Given the description of an element on the screen output the (x, y) to click on. 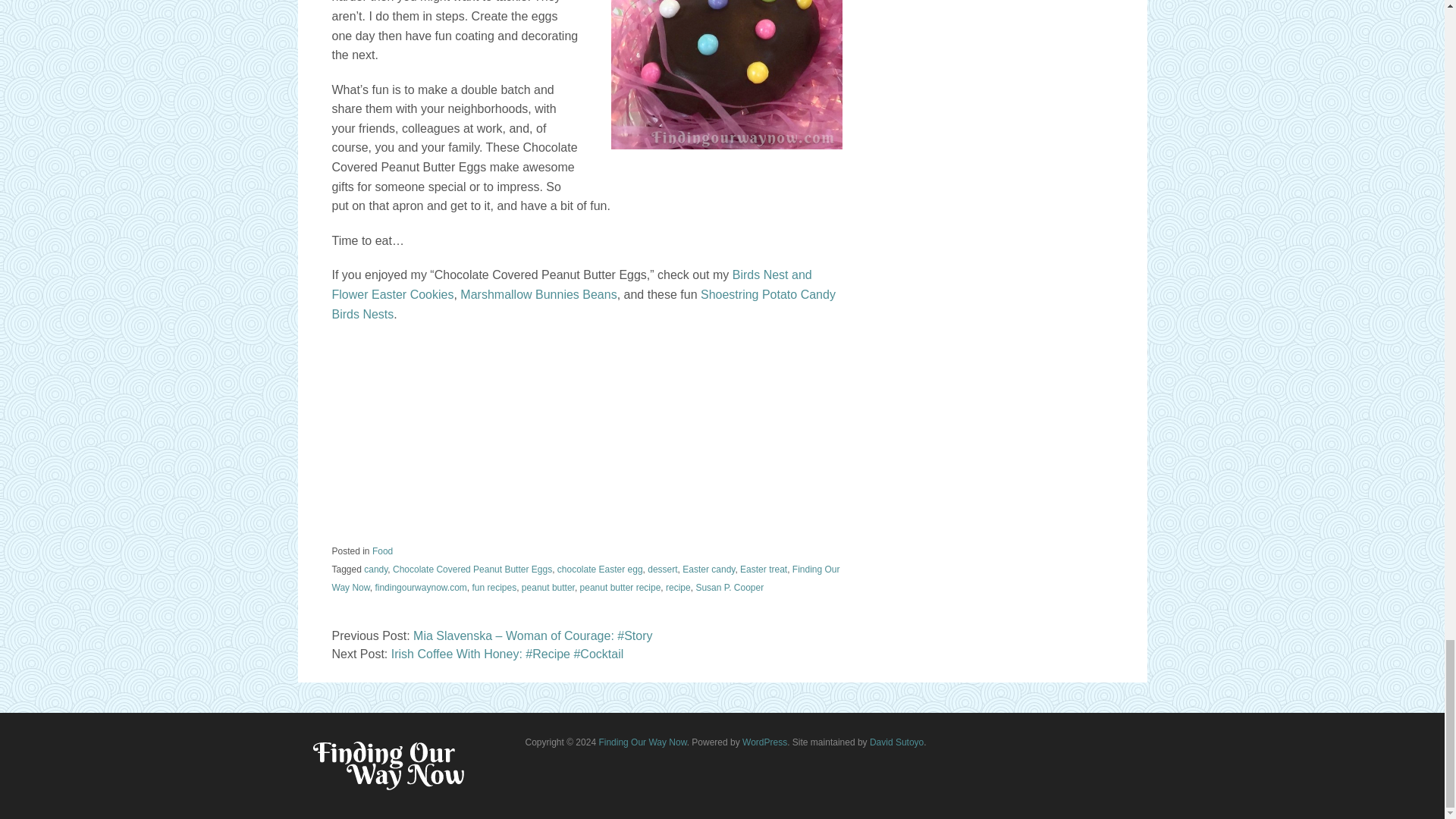
Chocolate Covered Peanut Butter Eggs , findingourwaynow.com (727, 74)
Birds Nest and Flower Easter Cookies: Recipe (571, 284)
